Given the description of an element on the screen output the (x, y) to click on. 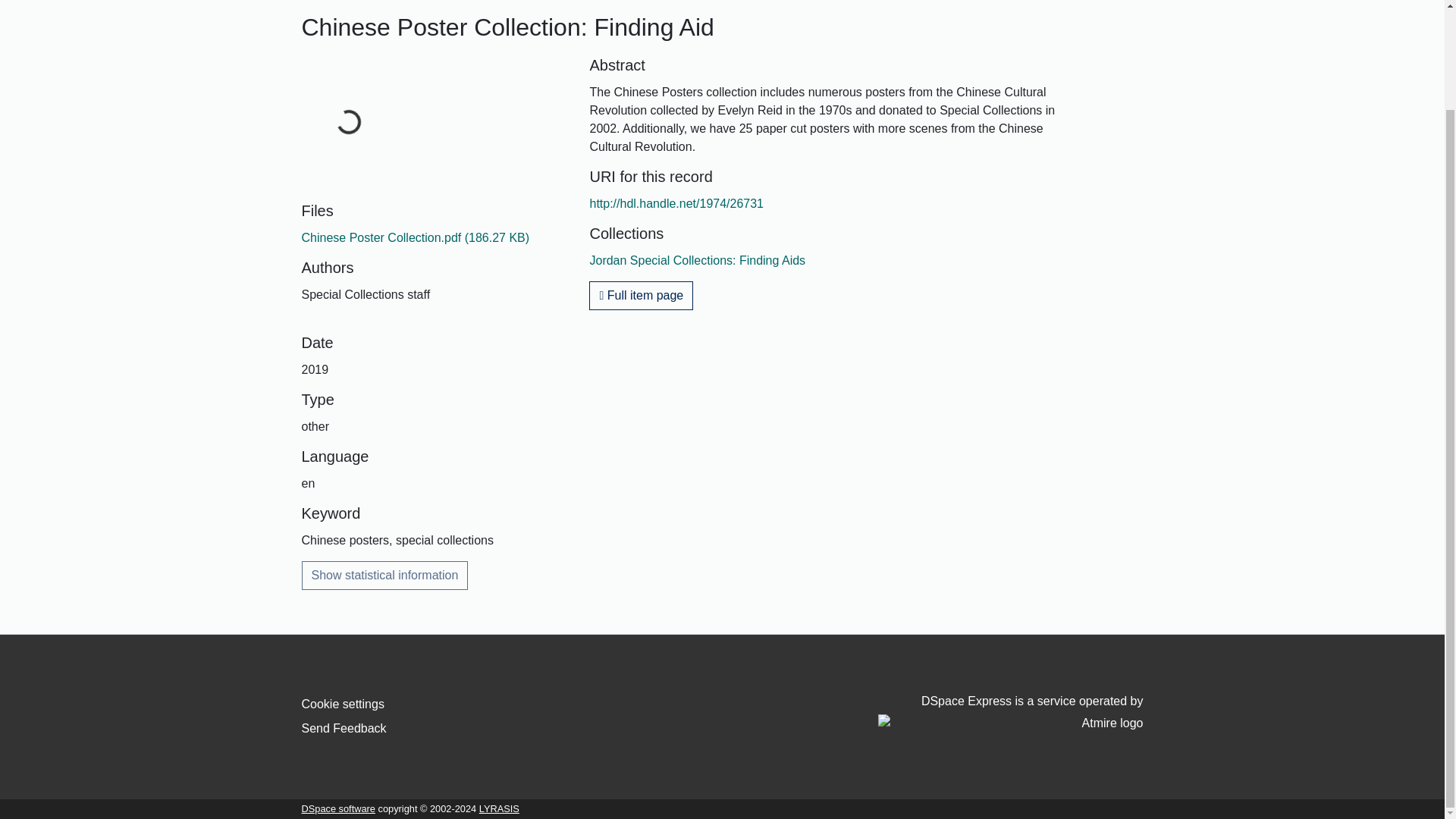
Show statistical information (384, 575)
Send Feedback (344, 727)
LYRASIS (499, 808)
DSpace Express is a service operated by (1009, 713)
DSpace software (338, 808)
Full item page (641, 295)
Jordan Special Collections: Finding Aids (697, 259)
Cookie settings (342, 703)
